Given the description of an element on the screen output the (x, y) to click on. 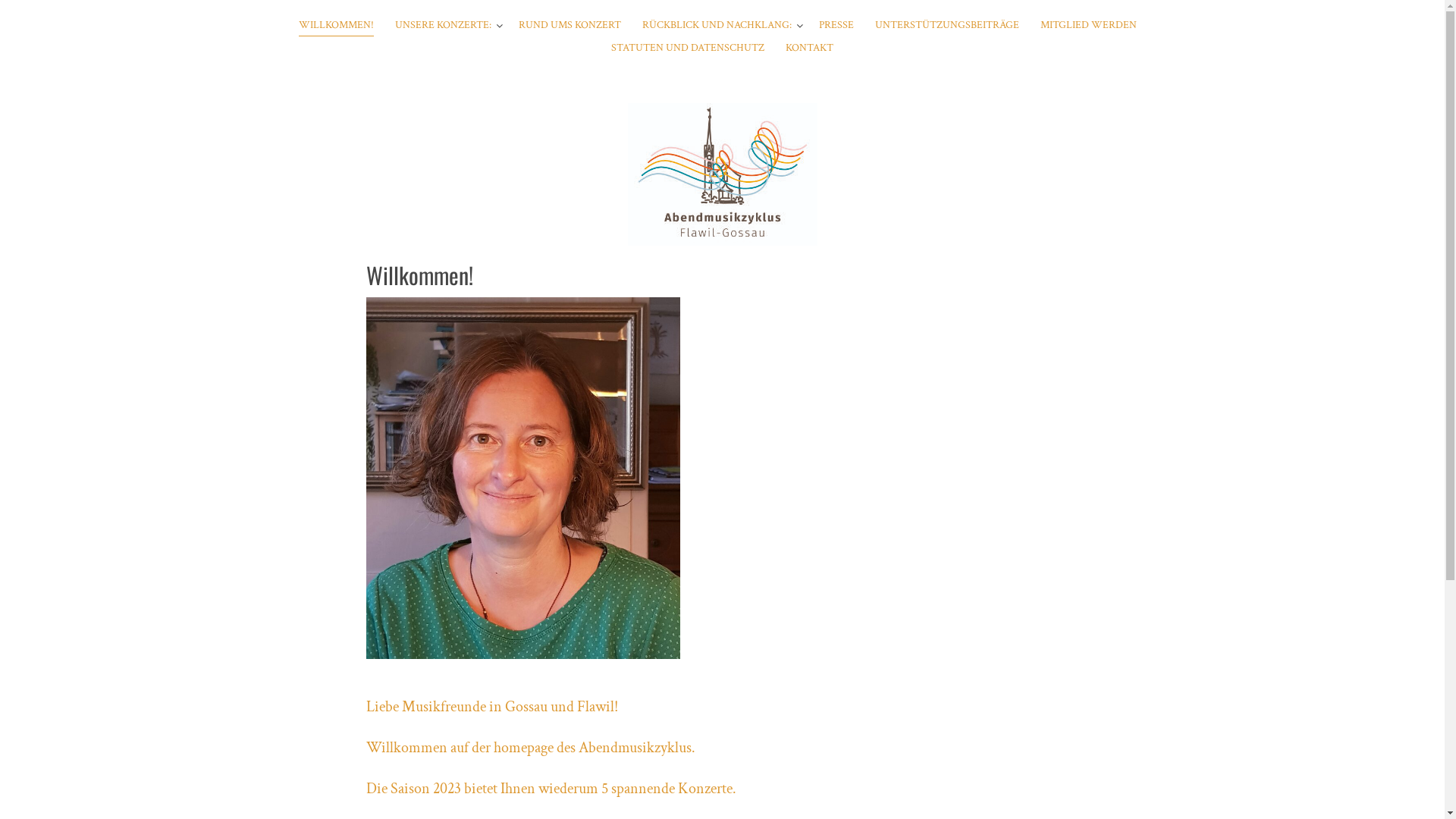
PRESSE Element type: text (836, 25)
MITGLIED WERDEN Element type: text (1088, 25)
UNSERE KONZERTE: Element type: text (443, 25)
STATUTEN UND DATENSCHUTZ Element type: text (687, 48)
RUND UMS KONZERT Element type: text (569, 25)
KONTAKT Element type: text (809, 48)
WILLKOMMEN! Element type: text (335, 25)
